Given the description of an element on the screen output the (x, y) to click on. 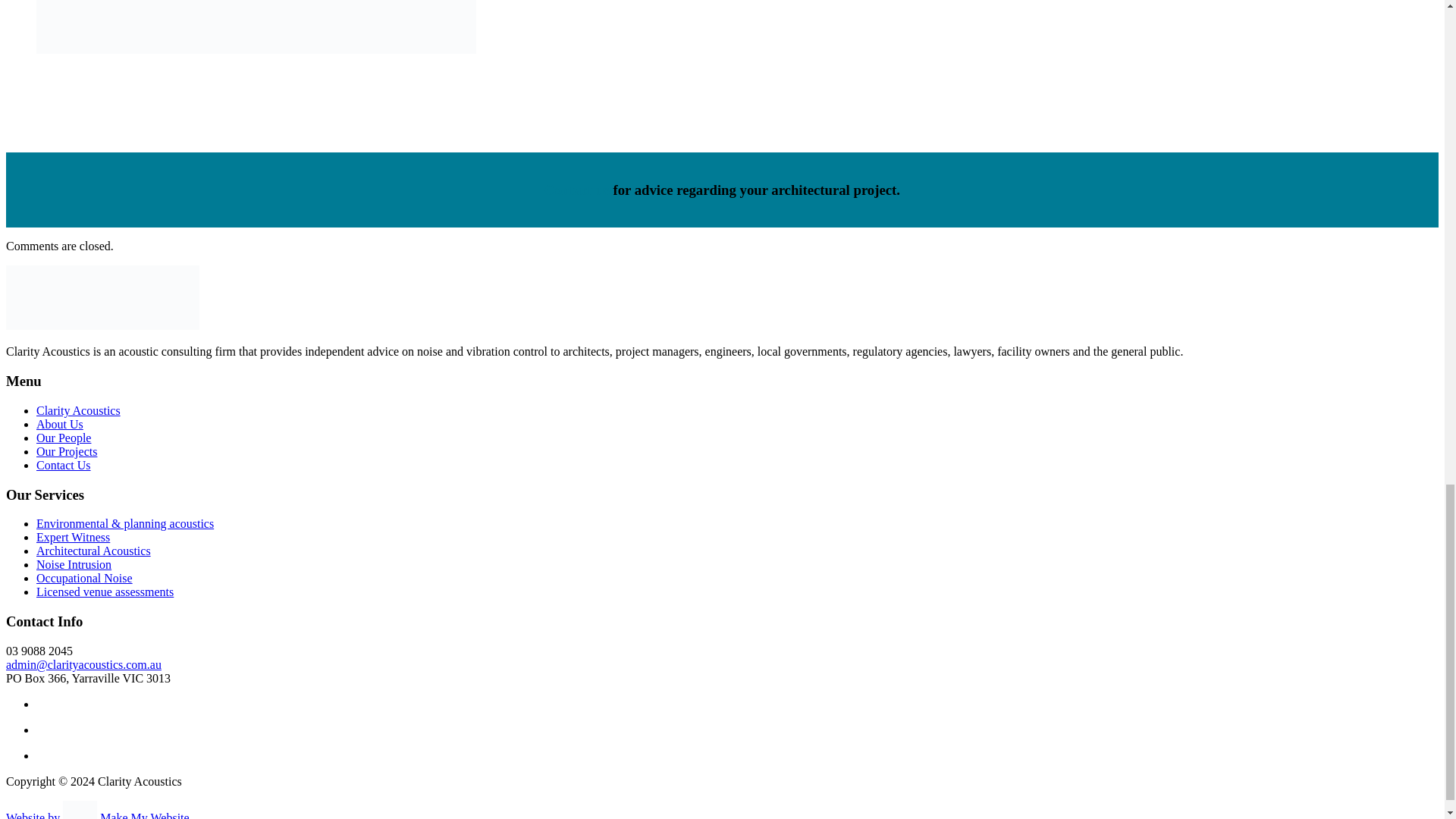
About Us (59, 423)
Noise Intrusion (74, 563)
Our Projects (66, 451)
Clarity Acoustics (78, 410)
Expert Witness (73, 536)
Our People (63, 437)
Architectural Acoustics (256, 27)
Contact us (577, 189)
Architectural Acoustics (93, 550)
Contact Us (63, 464)
